Given the description of an element on the screen output the (x, y) to click on. 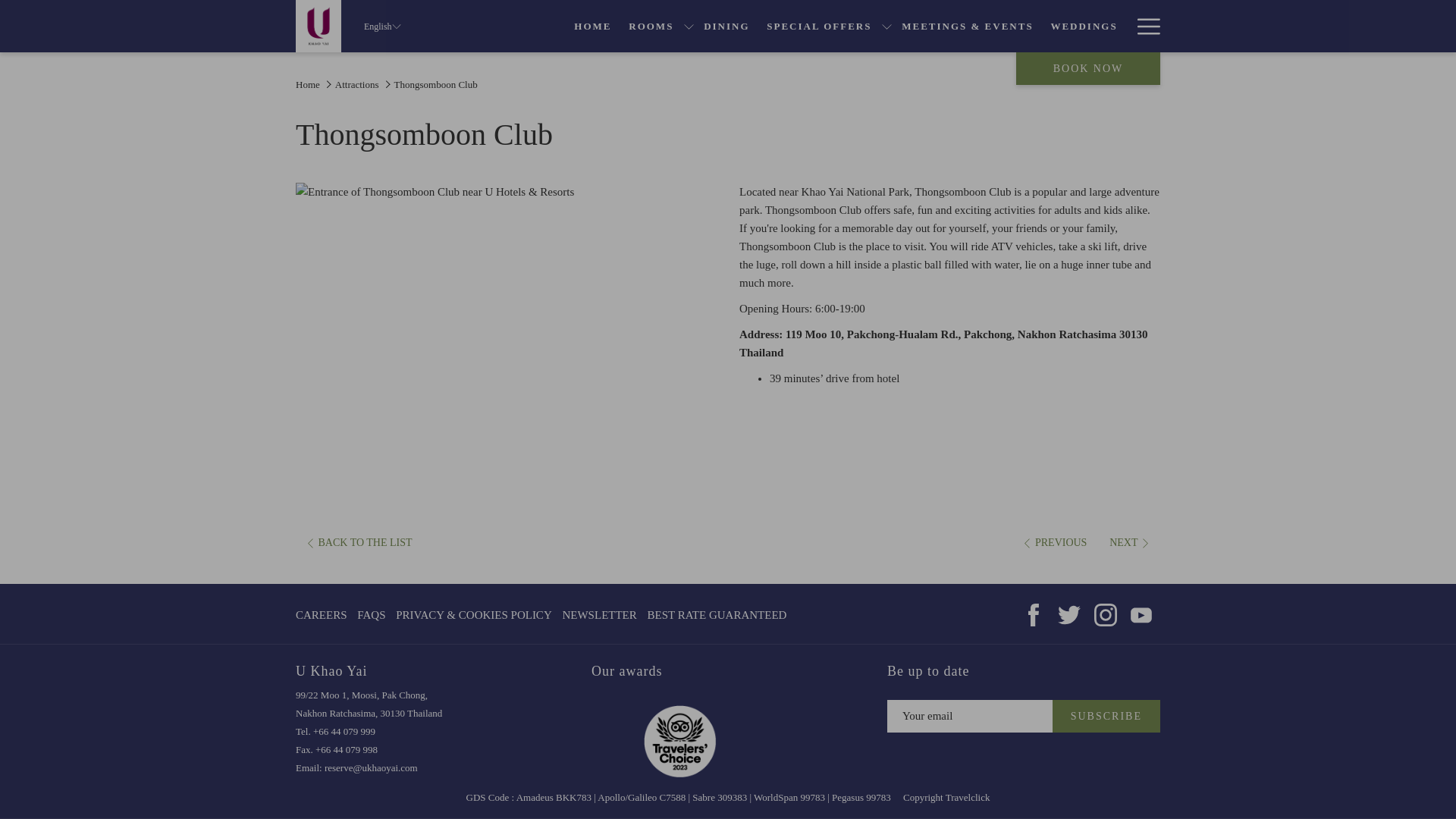
BOOK NOW (1088, 68)
SPECIAL OFFERS (819, 26)
Menu (1142, 26)
HOME (1148, 26)
English (593, 26)
WEDDINGS (382, 26)
DINING (1083, 26)
ROOMS (726, 26)
Back to the homepage (651, 26)
